Given the description of an element on the screen output the (x, y) to click on. 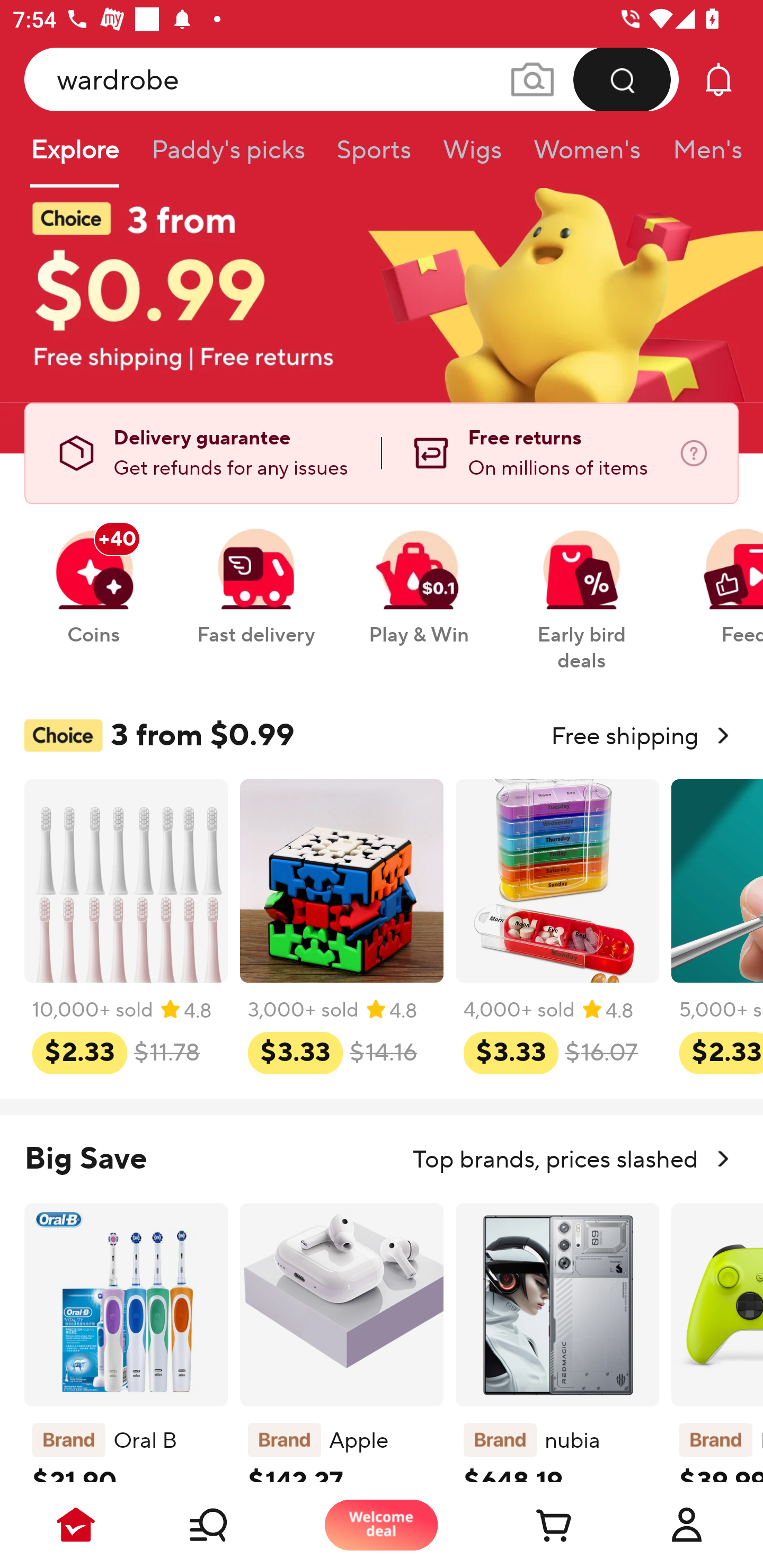
wardrobe (351, 79)
Paddy's picks (227, 155)
Sports (373, 155)
Wigs (472, 155)
Women's (586, 155)
Men's (701, 155)
Coinsbutton +40 Coins (93, 576)
Fast deliverybutton Fast delivery (255, 576)
Play & Winbutton Play & Win (418, 576)
Early bird dealsbutton Early bird deals (581, 589)
Feedbutton Feed (719, 576)
Shop (228, 1524)
Cart (533, 1524)
Account (686, 1524)
